Given the description of an element on the screen output the (x, y) to click on. 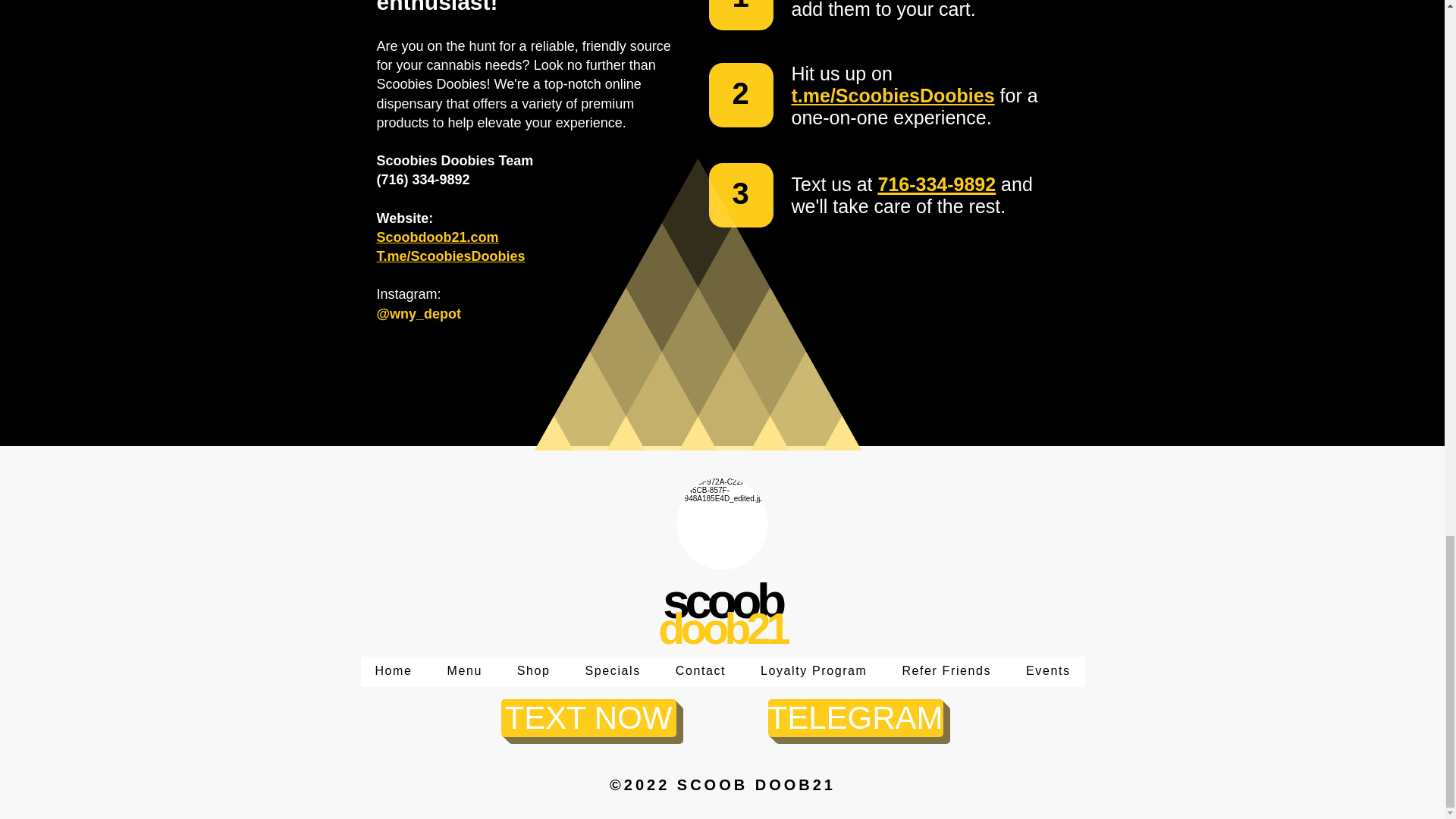
Specials (612, 671)
Contact (700, 671)
Home (393, 671)
TELEGRAM (854, 718)
Menu (464, 671)
716-334-9892 (936, 182)
TEXT NOW (587, 718)
Events (1047, 671)
Loyalty Program (812, 671)
Shop (533, 671)
Refer Friends (946, 671)
Scoobdoob21.com (436, 237)
